Given the description of an element on the screen output the (x, y) to click on. 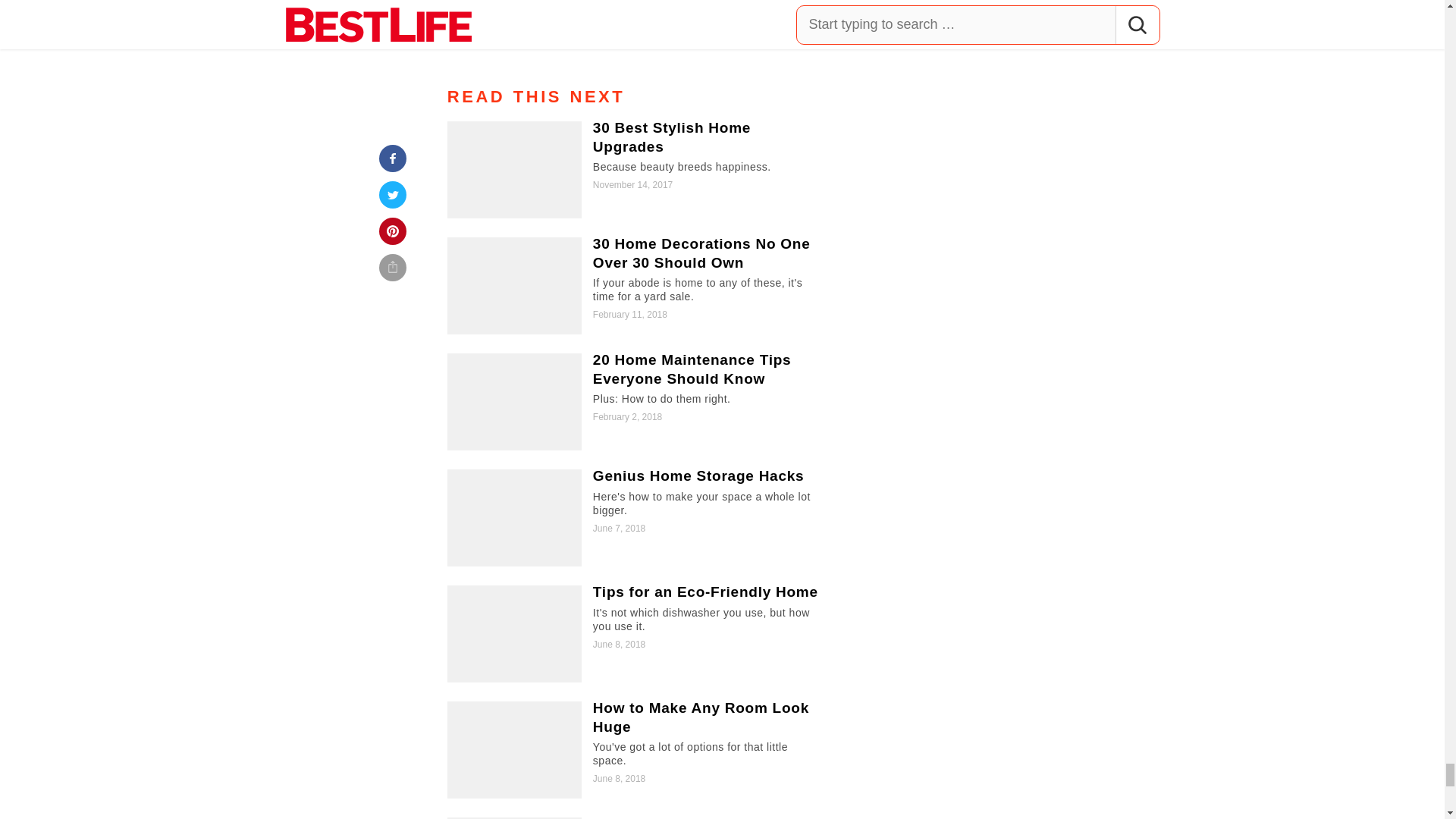
30 Home Decorations No One Over 30 Should Own (635, 285)
How to Make Any Room Look Huge (635, 749)
20 Home Maintenance Tips Everyone Should Know (635, 401)
30 Best Stylish Home Upgrades (635, 169)
Genius Home Storage Hacks (635, 517)
Tips for an Eco-Friendly Home (635, 633)
